Given the description of an element on the screen output the (x, y) to click on. 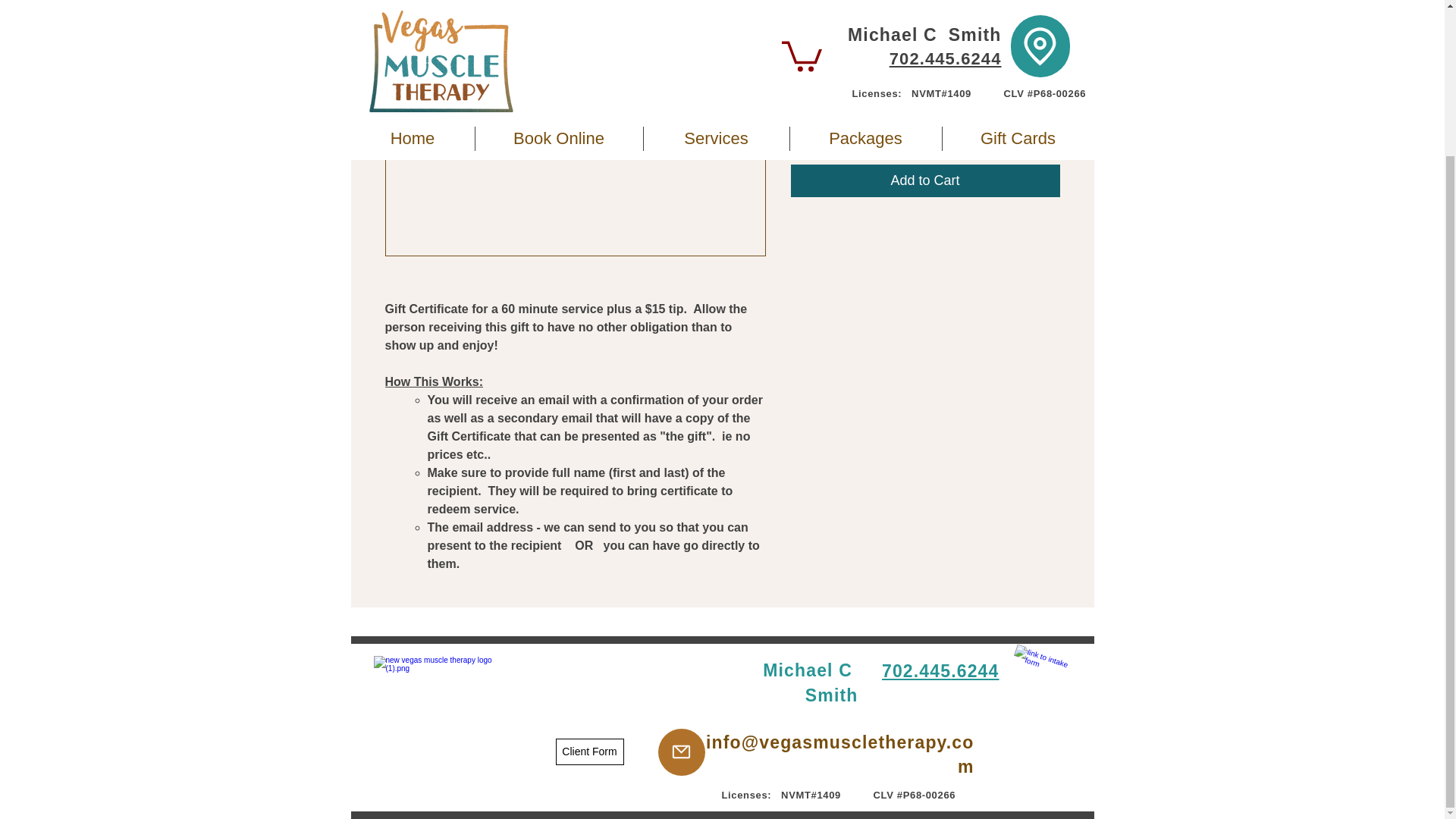
1 (818, 121)
Add to Cart (924, 180)
Michael C  Smith (809, 682)
702.445.6244 (940, 670)
Client Form (588, 751)
